Given the description of an element on the screen output the (x, y) to click on. 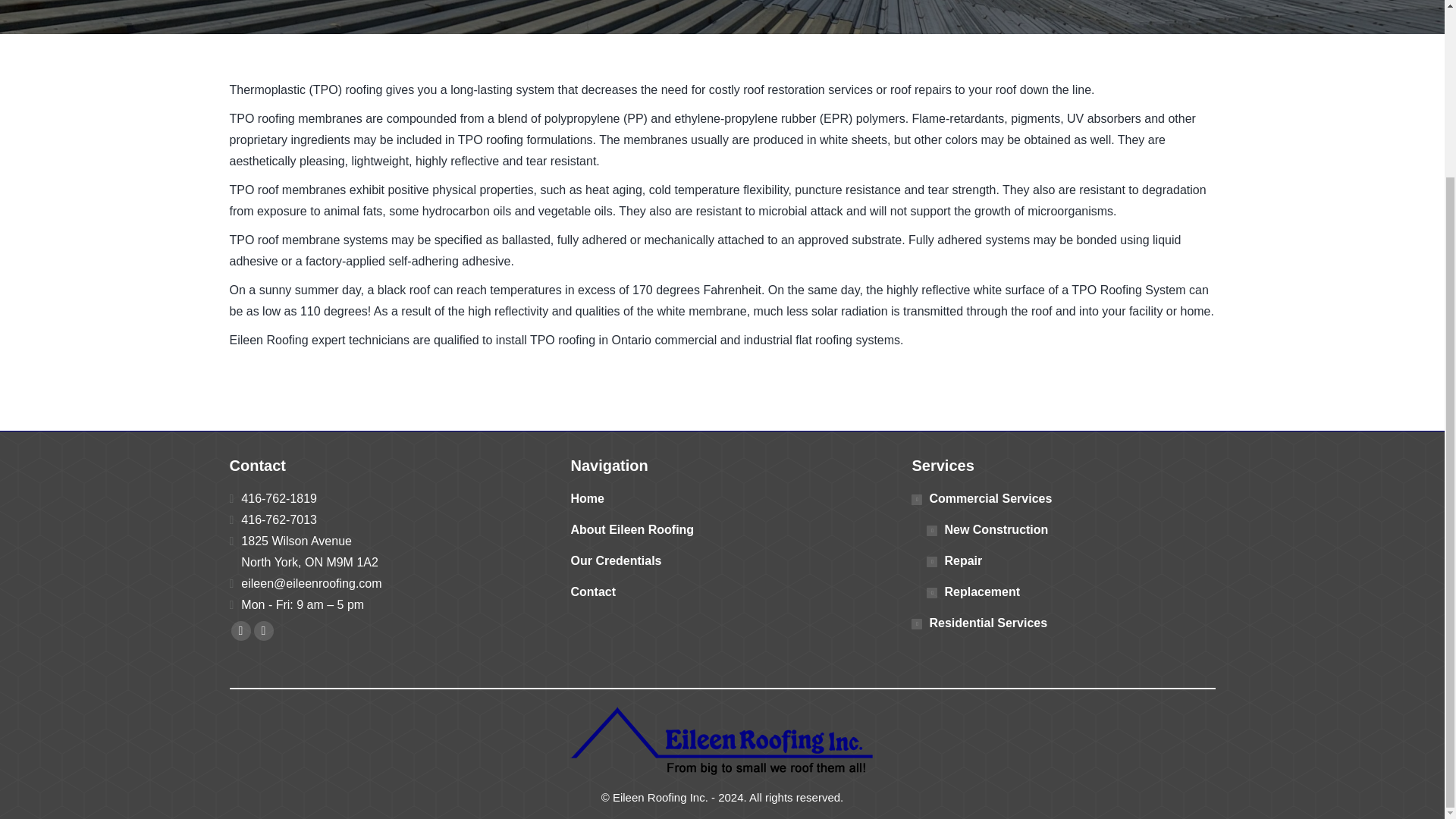
Yelp page opens in new window (263, 630)
Facebook page opens in new window (240, 630)
